Given the description of an element on the screen output the (x, y) to click on. 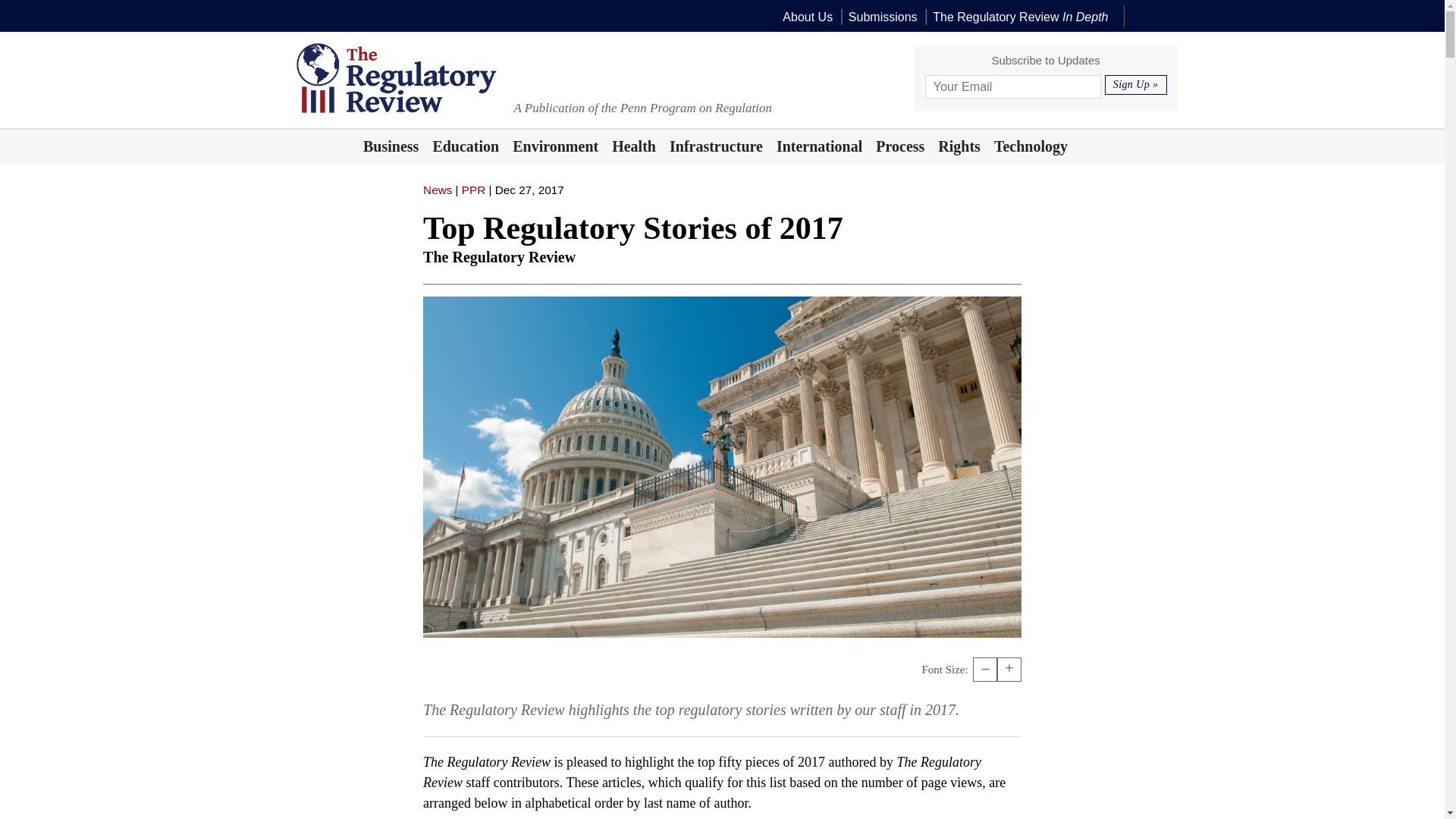
Health (633, 145)
A Publication of the Penn Program on Regulation (642, 106)
Business (390, 145)
Infrastructure (715, 145)
The Regulatory Review In Depth (1020, 16)
Submissions (882, 16)
Posts by The Regulatory Review (499, 256)
Decrease font size (984, 669)
About Us (807, 16)
Environment (555, 145)
Education (465, 145)
Increase font size (1009, 669)
